Given the description of an element on the screen output the (x, y) to click on. 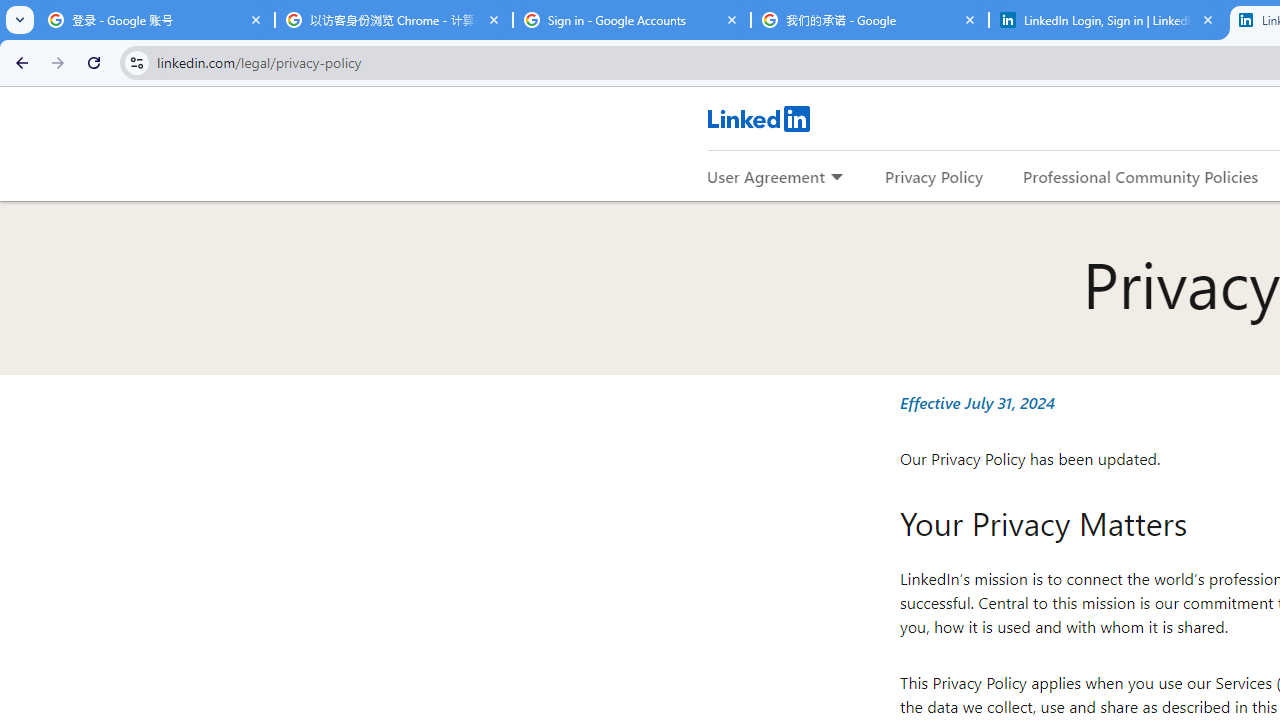
Professional Community Policies (1140, 176)
Expand to show more links for User Agreement (836, 178)
